Given the description of an element on the screen output the (x, y) to click on. 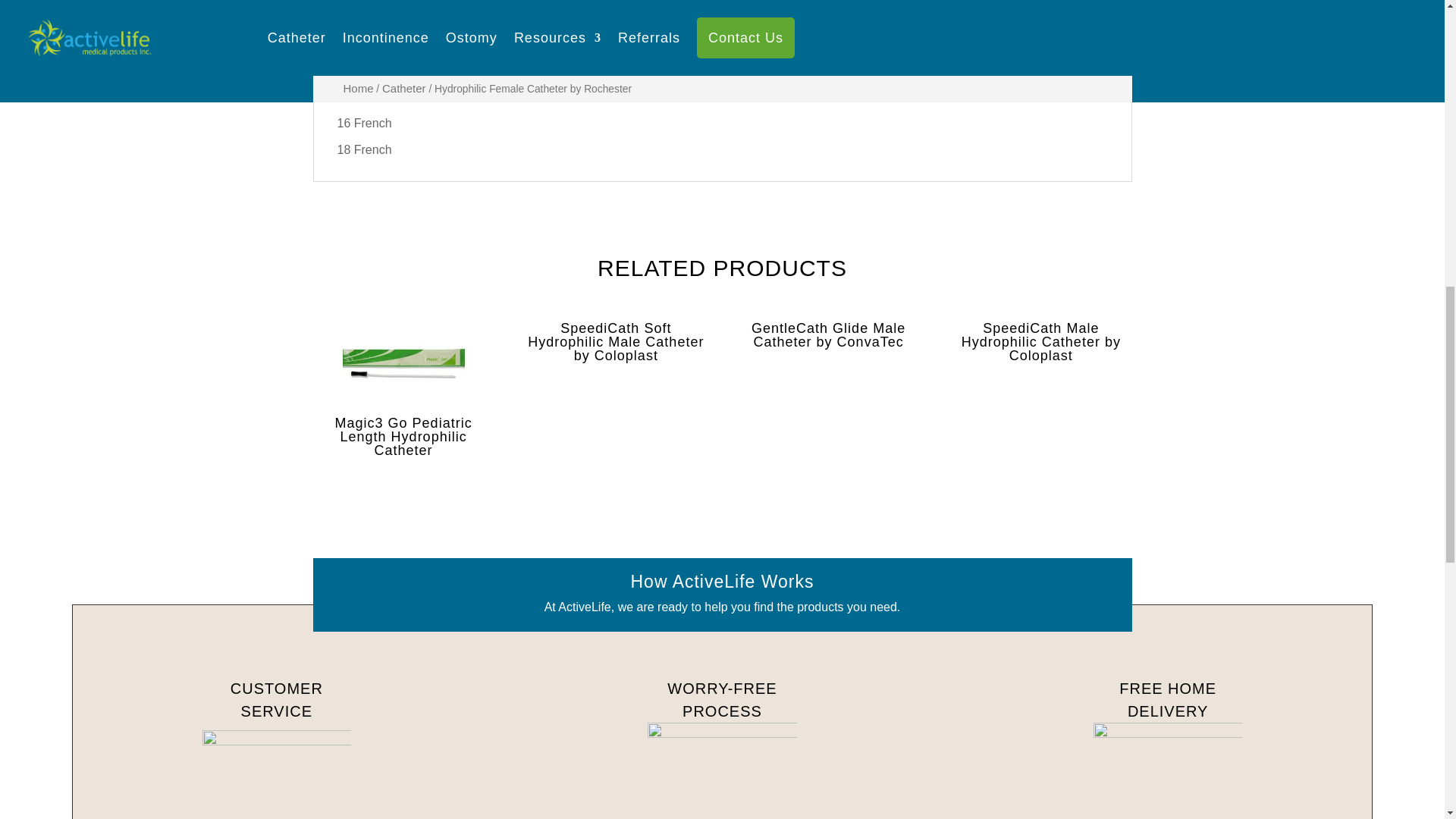
icon-checklist transparent (721, 770)
icon-package transparent (1168, 770)
SpeediCath Soft Hydrophilic Male Catheter by Coloplast (615, 341)
GentleCath Glide Male Catheter by ConvaTec (828, 334)
Magic3 Go Pediatric Length Hydrophilic Catheter (403, 389)
icon-headset transparent (277, 774)
SpeediCath Male Hydrophilic Catheter by Coloplast (1040, 341)
